Given the description of an element on the screen output the (x, y) to click on. 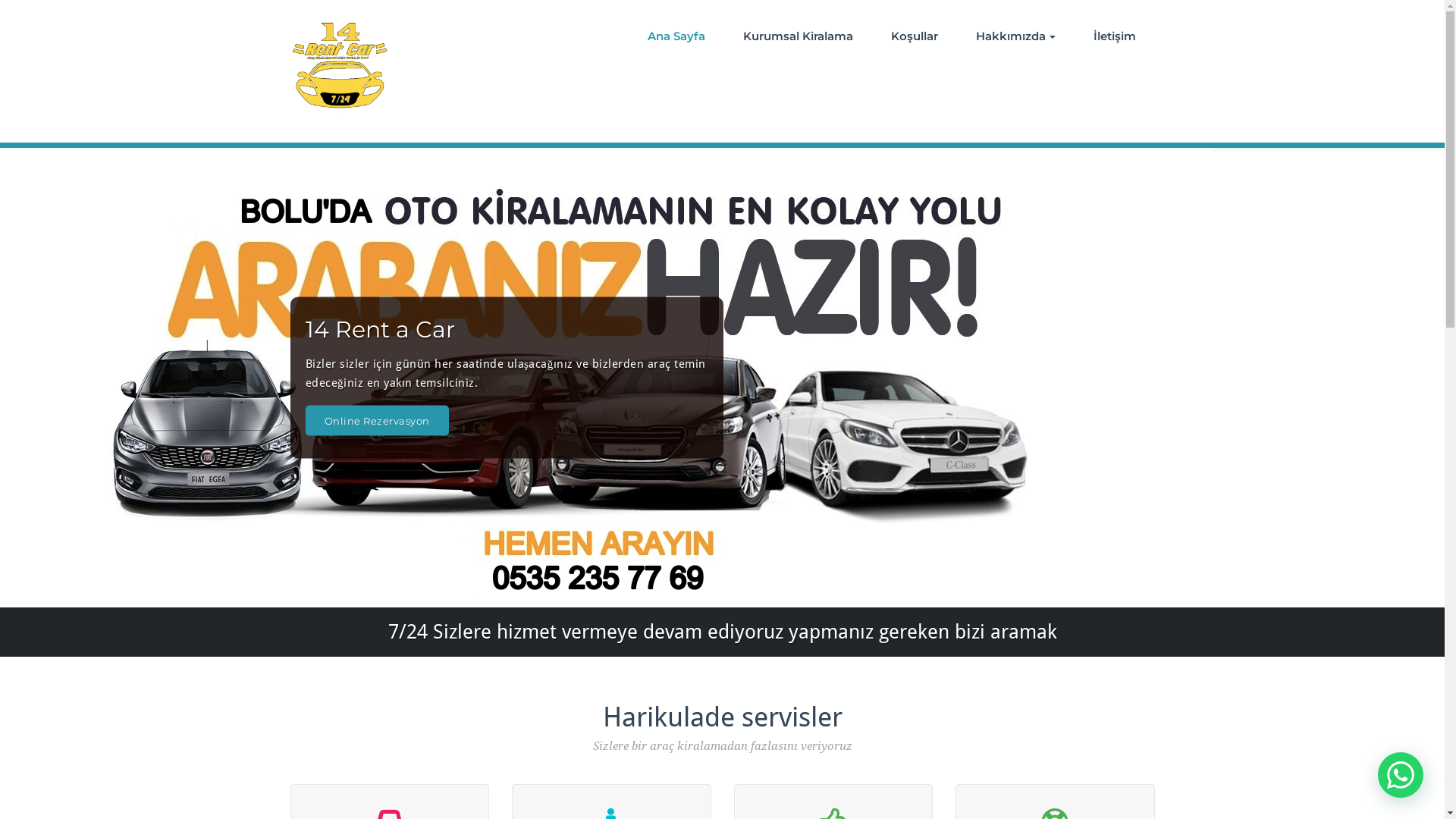
Kurumsal Kiralama Element type: text (797, 36)
Ana Sayfa Element type: text (675, 36)
Online Rezervasyon Element type: text (376, 419)
